Given the description of an element on the screen output the (x, y) to click on. 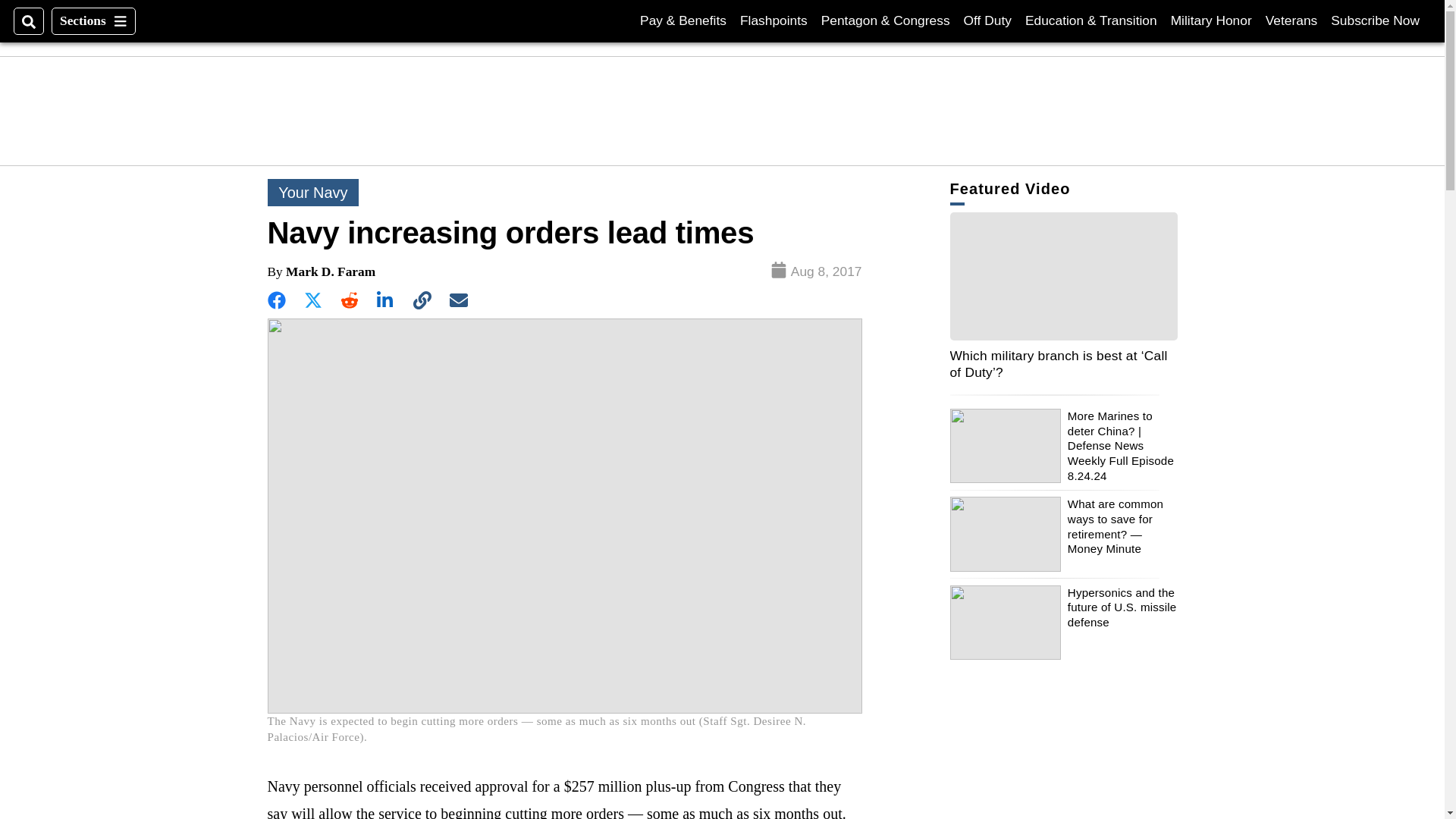
Flashpoints (773, 20)
Veterans (1291, 20)
Military Honor (1211, 20)
Off Duty (987, 20)
Sections (1374, 20)
